Given the description of an element on the screen output the (x, y) to click on. 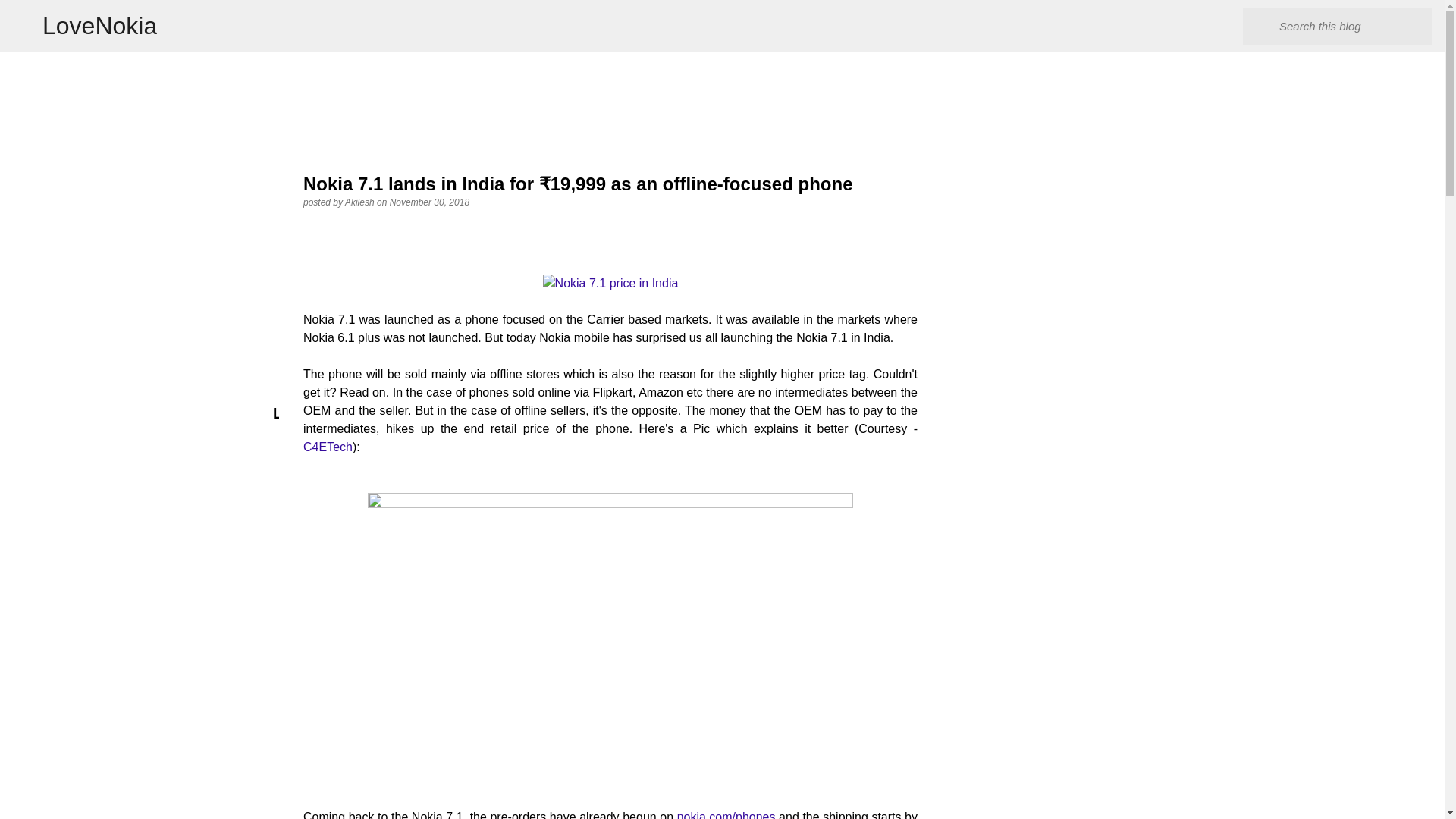
permanent link (429, 202)
Akilesh (361, 202)
Nokia 7.1  (610, 283)
LoveNokia (99, 25)
LATEST POSTS (328, 413)
November 30, 2018 (429, 202)
C4ETech (327, 446)
author profile (361, 202)
